Given the description of an element on the screen output the (x, y) to click on. 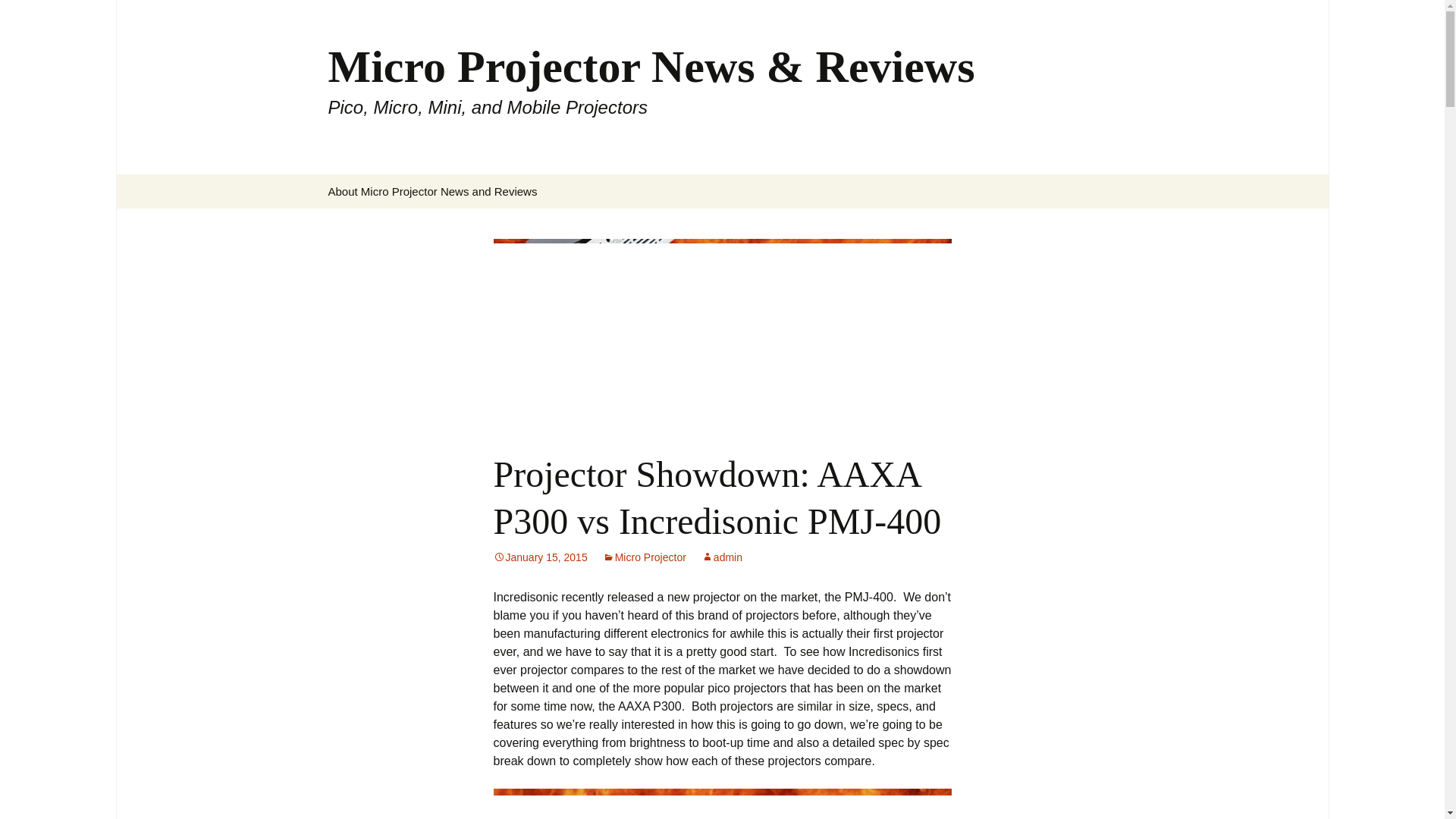
Micro Projector (643, 557)
View all posts by admin (721, 557)
admin (721, 557)
About Micro Projector News and Reviews (432, 191)
January 15, 2015 (539, 557)
Search (18, 15)
